Given the description of an element on the screen output the (x, y) to click on. 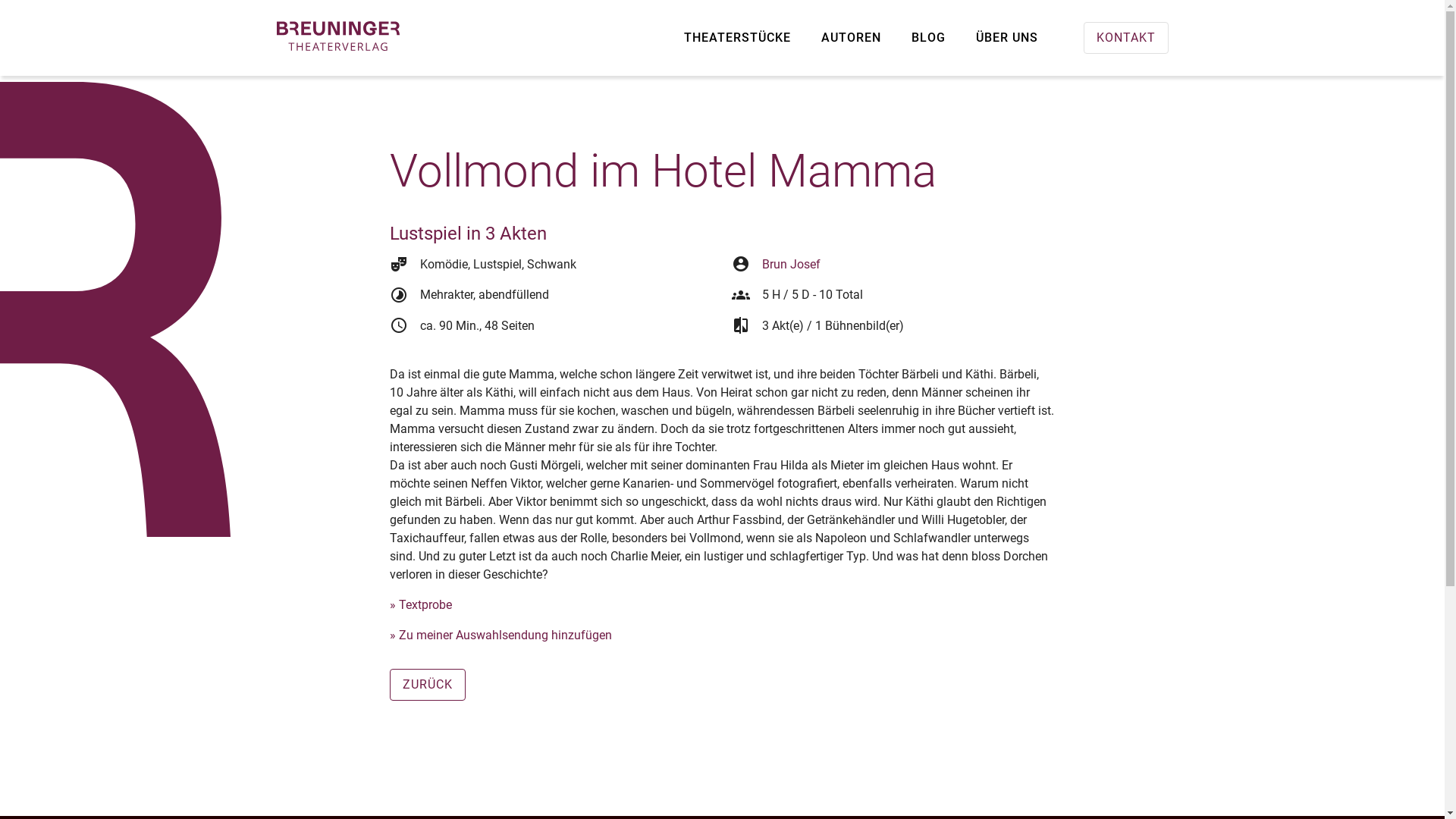
Brun Josef Element type: text (790, 264)
AUTOREN Element type: text (850, 37)
KONTAKT Element type: text (1124, 37)
BLOG Element type: text (928, 37)
